Given the description of an element on the screen output the (x, y) to click on. 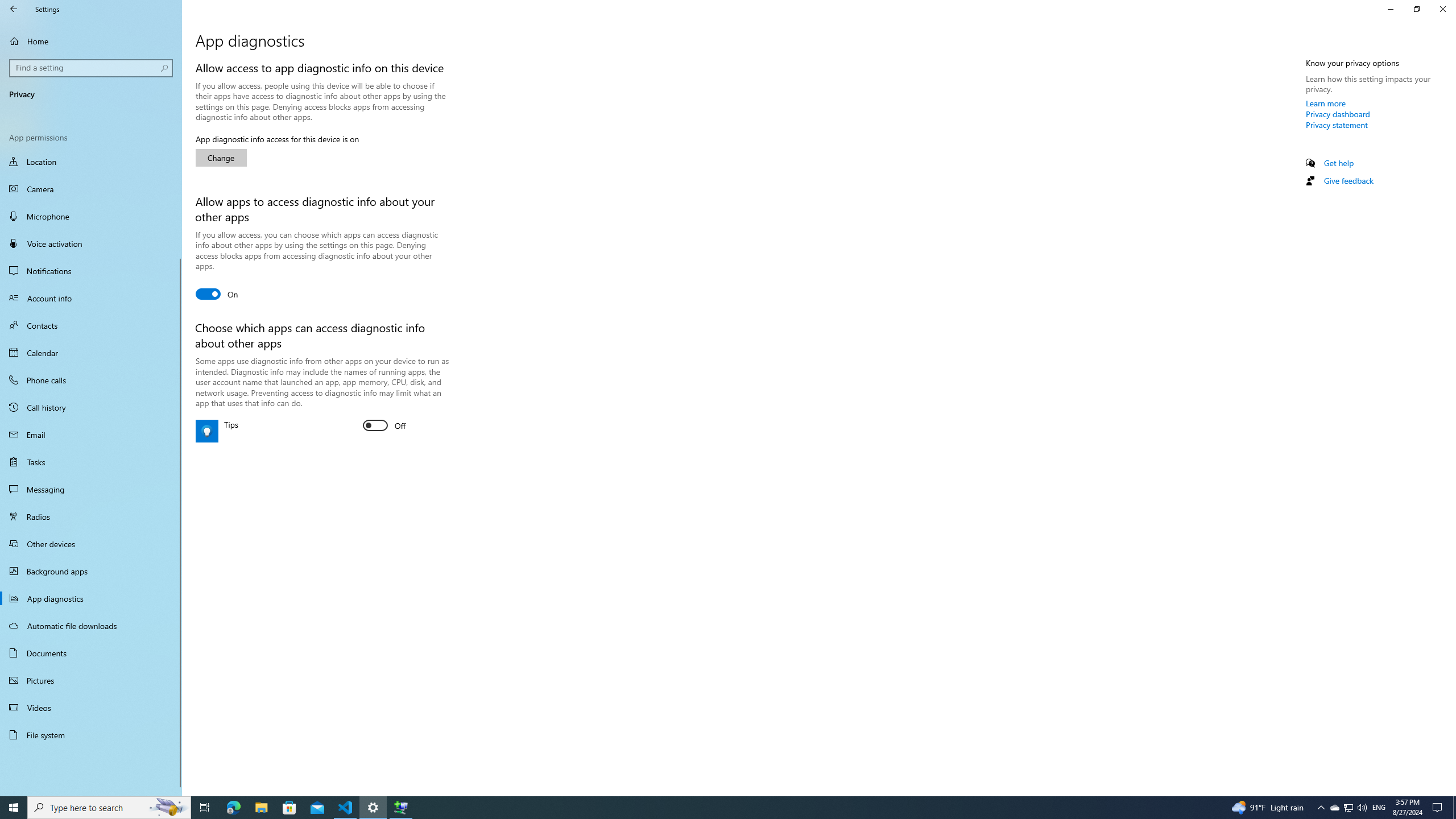
Running applications (706, 807)
Voice activation (91, 243)
Other devices (91, 543)
Home (91, 40)
Background apps (91, 570)
Start (13, 807)
Q2790: 100% (1361, 807)
Restore Settings (1416, 9)
Extensible Wizards Host Process - 1 running window (400, 807)
Give feedback (1348, 180)
Pictures (91, 679)
Tips (384, 425)
Privacy dashboard (1338, 113)
